Given the description of an element on the screen output the (x, y) to click on. 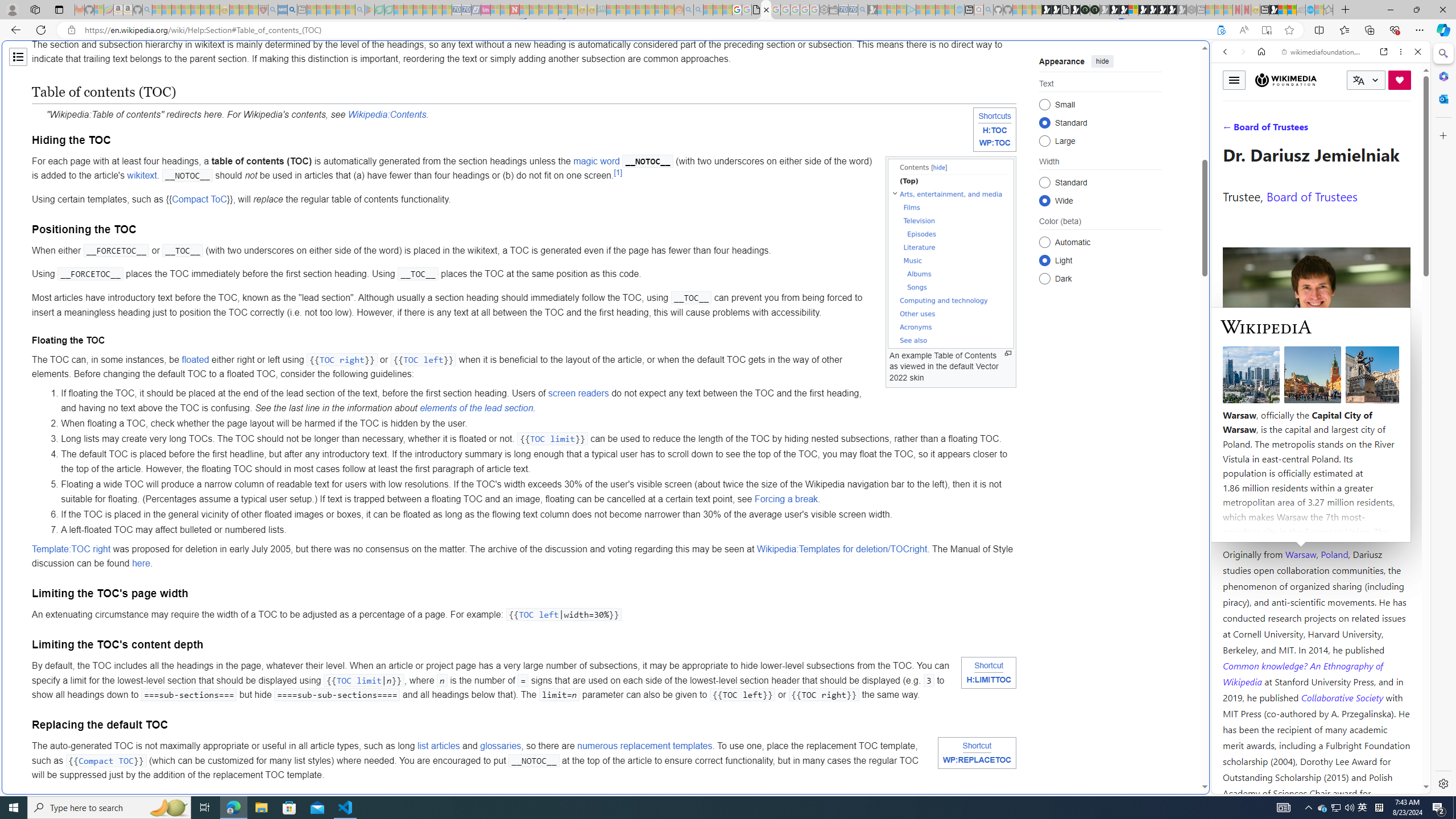
Harvard University (1259, 526)
Wallet - Sleeping (833, 9)
Future Focus Report 2024 (1094, 9)
github - Search - Sleeping (988, 9)
Common knowledge? An Ethnography of Wikipedia (1302, 672)
Home | Sky Blue Bikes - Sky Blue Bikes - Sleeping (959, 9)
A left-floated TOC may affect bulleted or numbered lists. (538, 529)
